Given the description of an element on the screen output the (x, y) to click on. 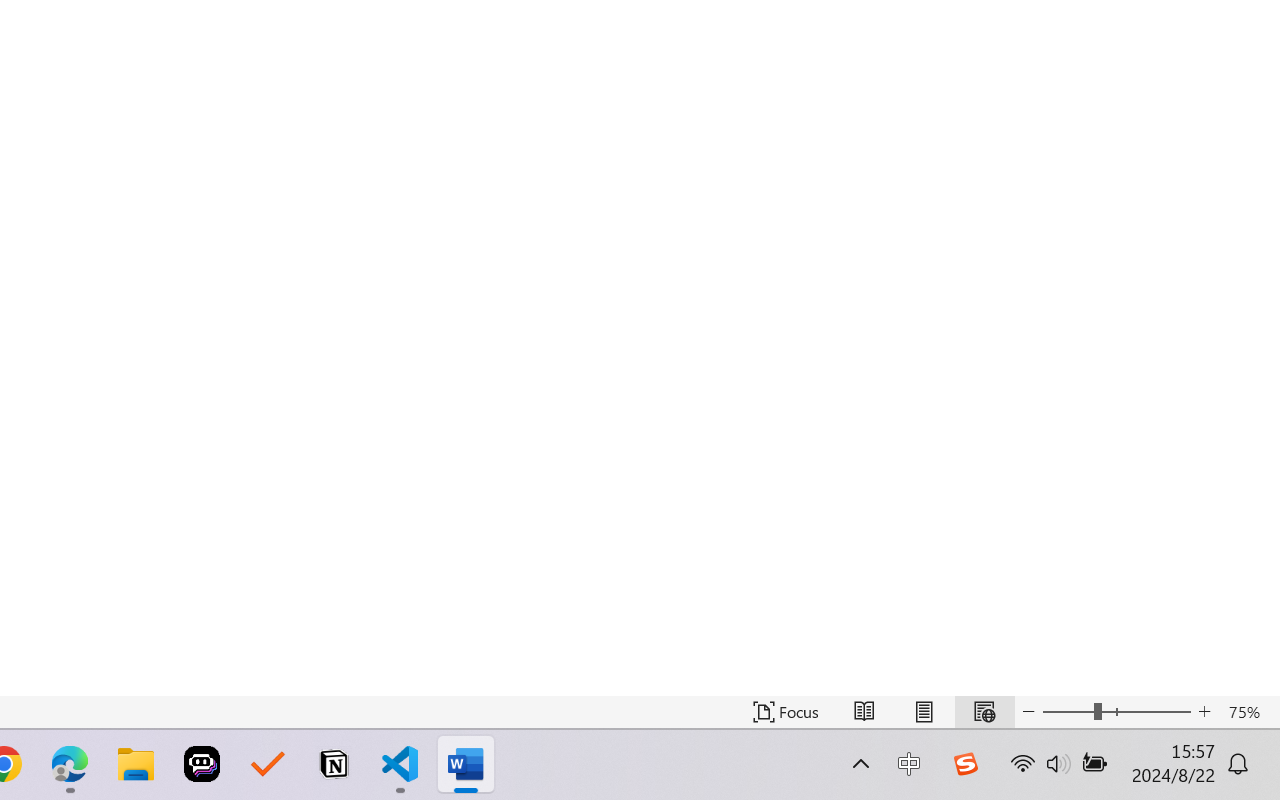
Zoom 75% (1249, 712)
Focus  (786, 712)
Zoom Out (1067, 712)
Zoom In (1204, 712)
Read Mode (864, 712)
Zoom (1116, 712)
Print Layout (924, 712)
Web Layout (984, 712)
Class: Image (965, 764)
